Given the description of an element on the screen output the (x, y) to click on. 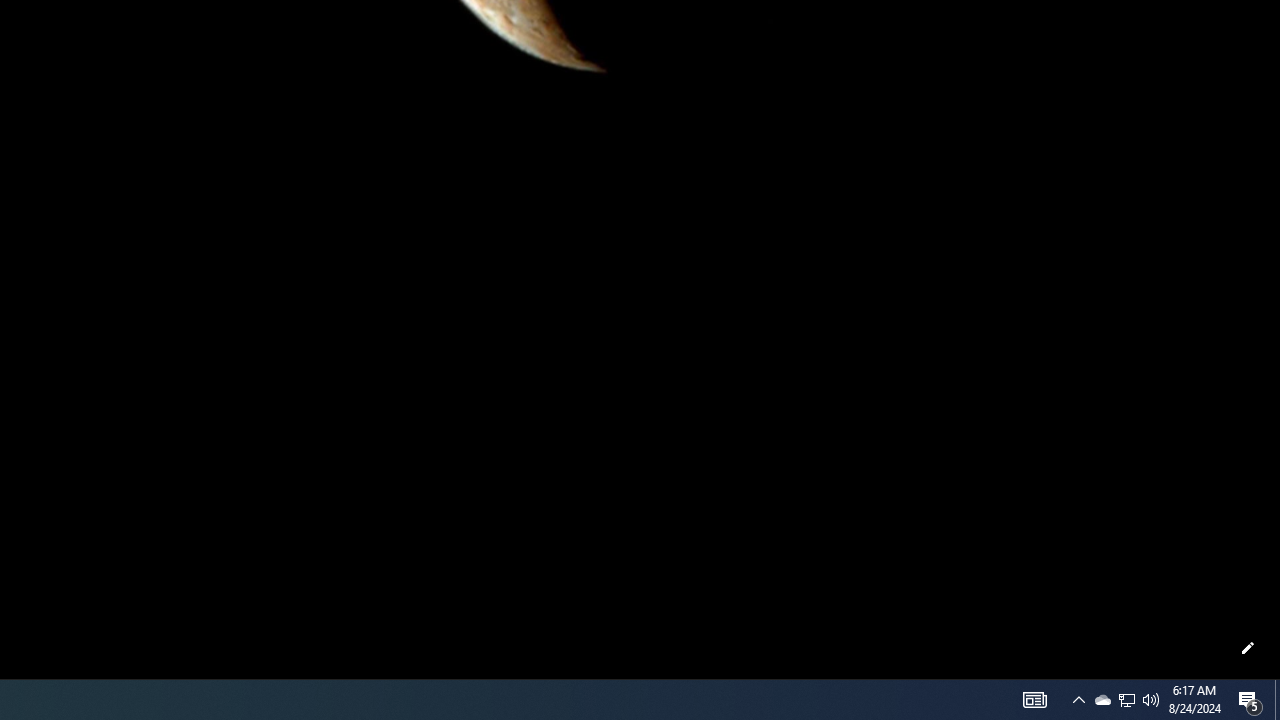
Customize this page (1247, 647)
